Given the description of an element on the screen output the (x, y) to click on. 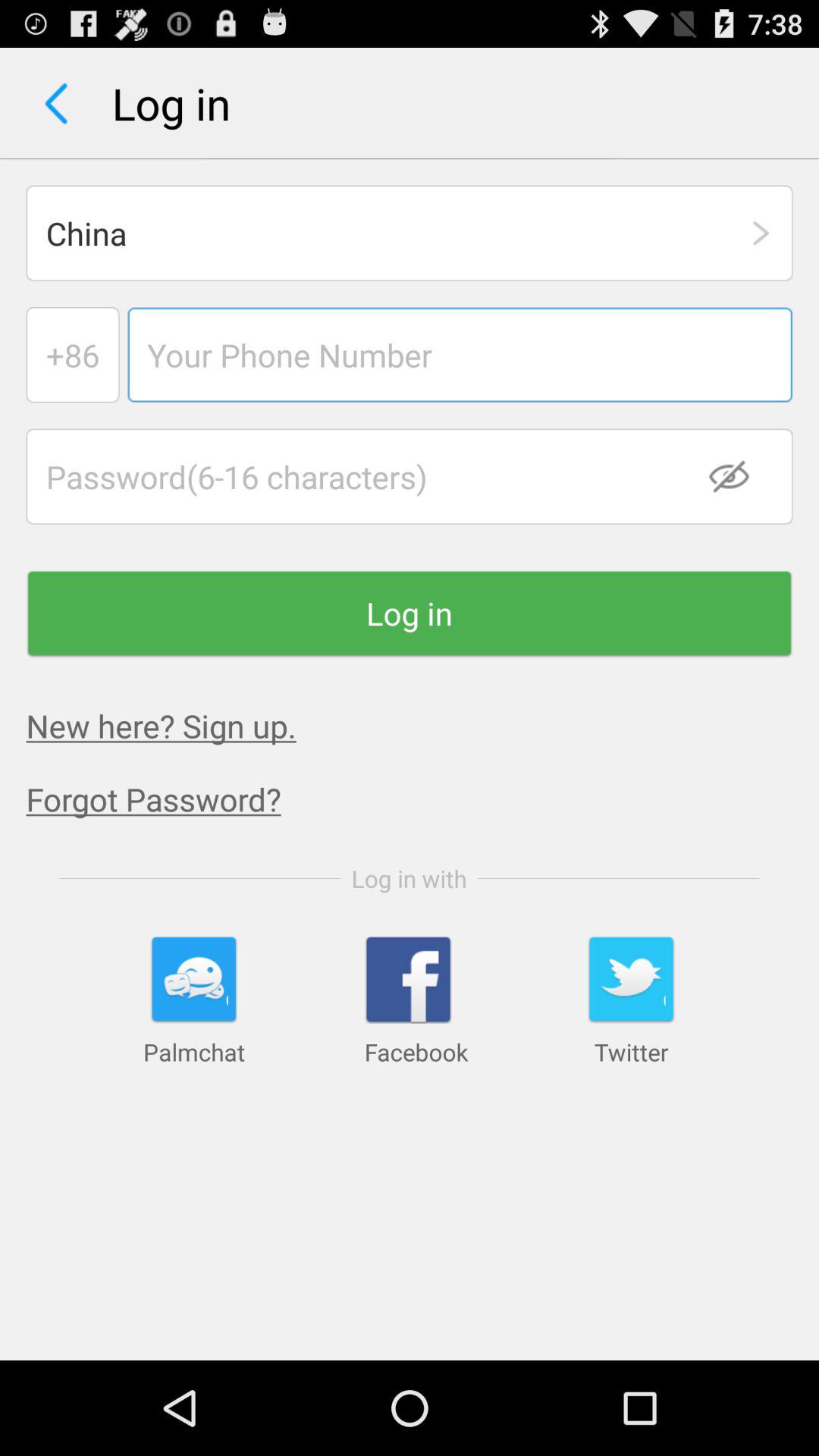
jump until checkbox (738, 476)
